Given the description of an element on the screen output the (x, y) to click on. 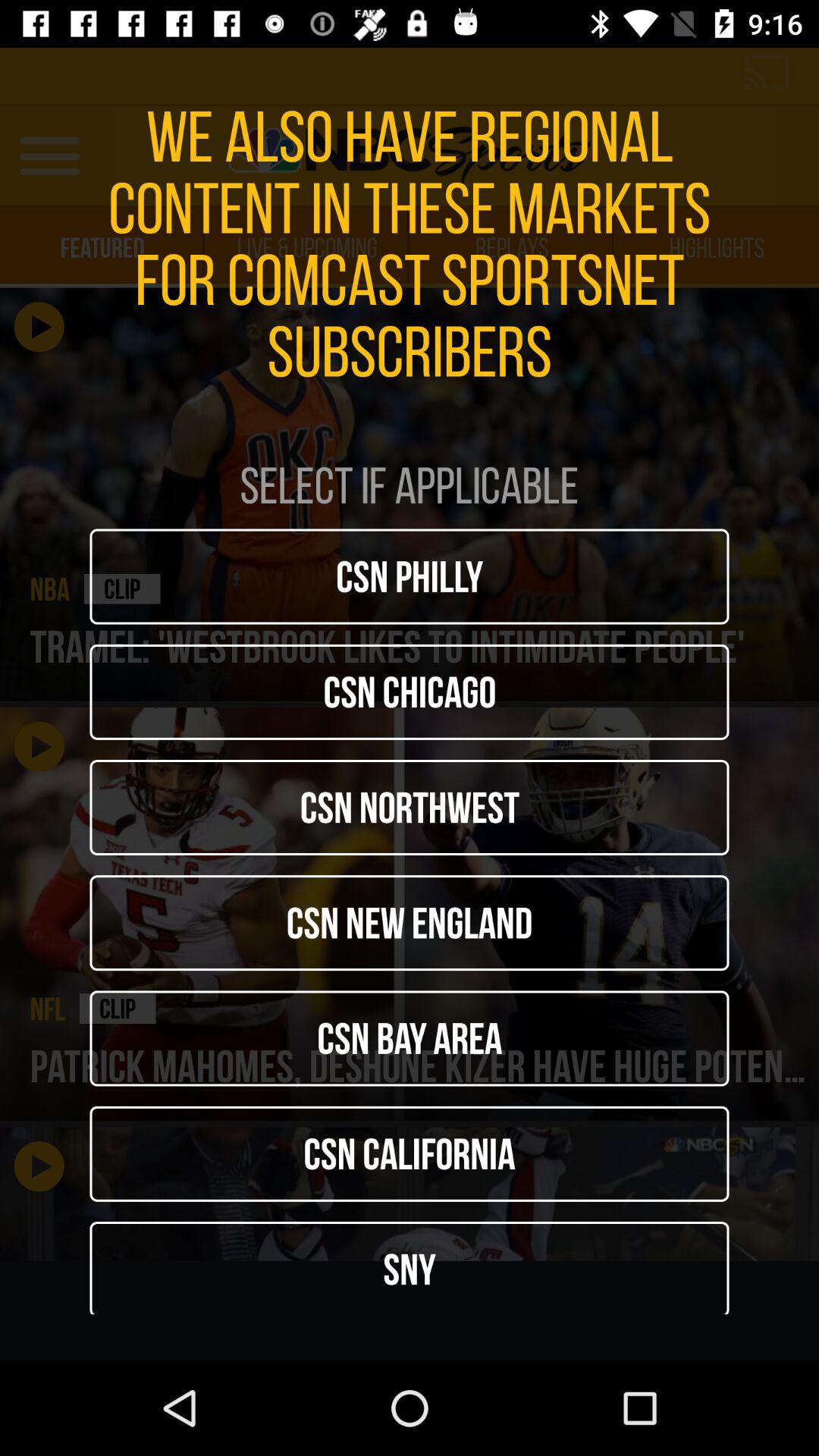
select the item above the csn chicago item (409, 576)
